Given the description of an element on the screen output the (x, y) to click on. 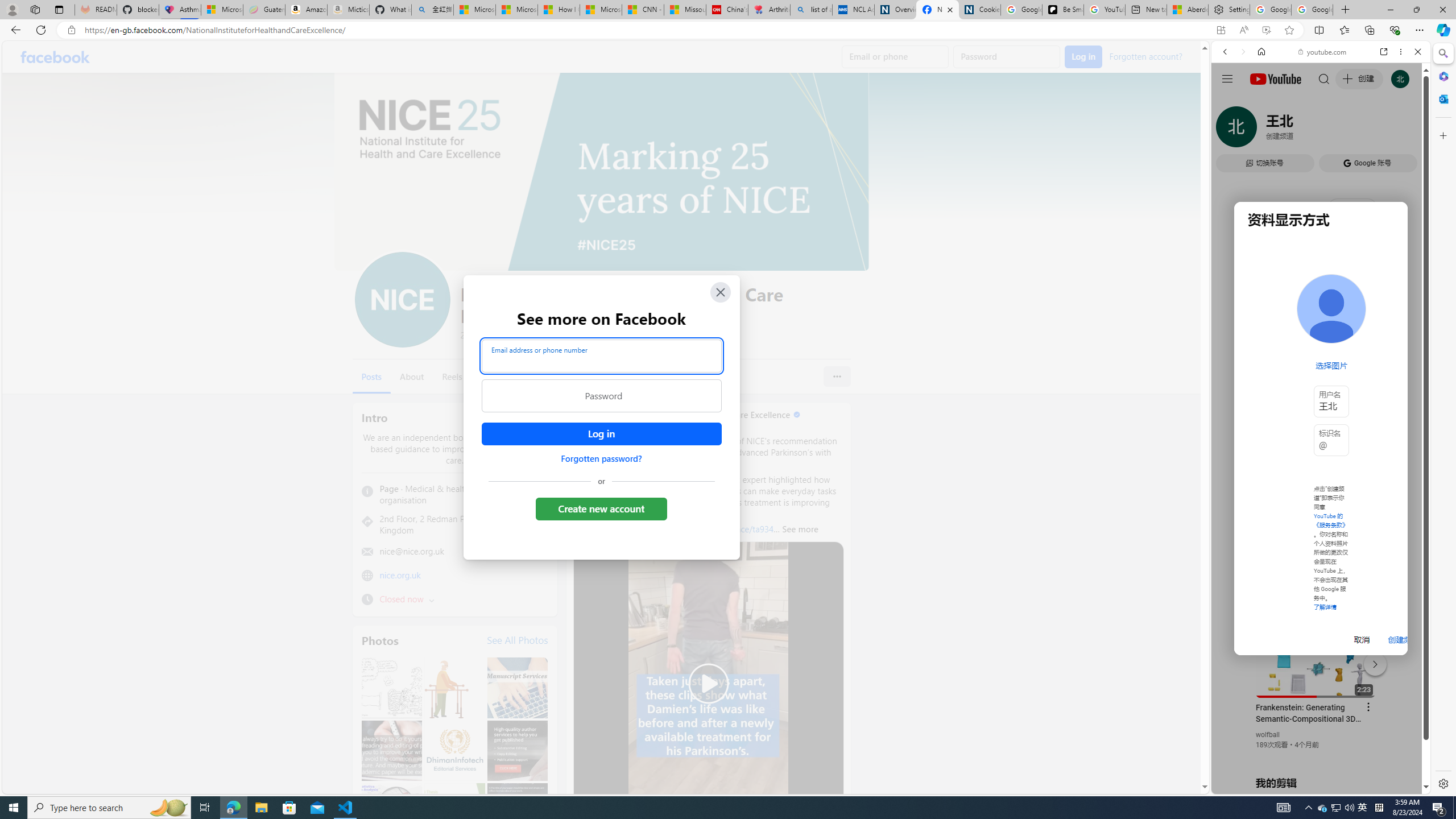
Open link in new tab (1383, 51)
How I Got Rid of Microsoft Edge's Unnecessary Features (558, 9)
Forward (1242, 51)
#you (1315, 659)
Google (1266, 331)
list of asthma inhalers uk - Search (810, 9)
Email address or phone number (600, 355)
Email or phone (895, 56)
